Given the description of an element on the screen output the (x, y) to click on. 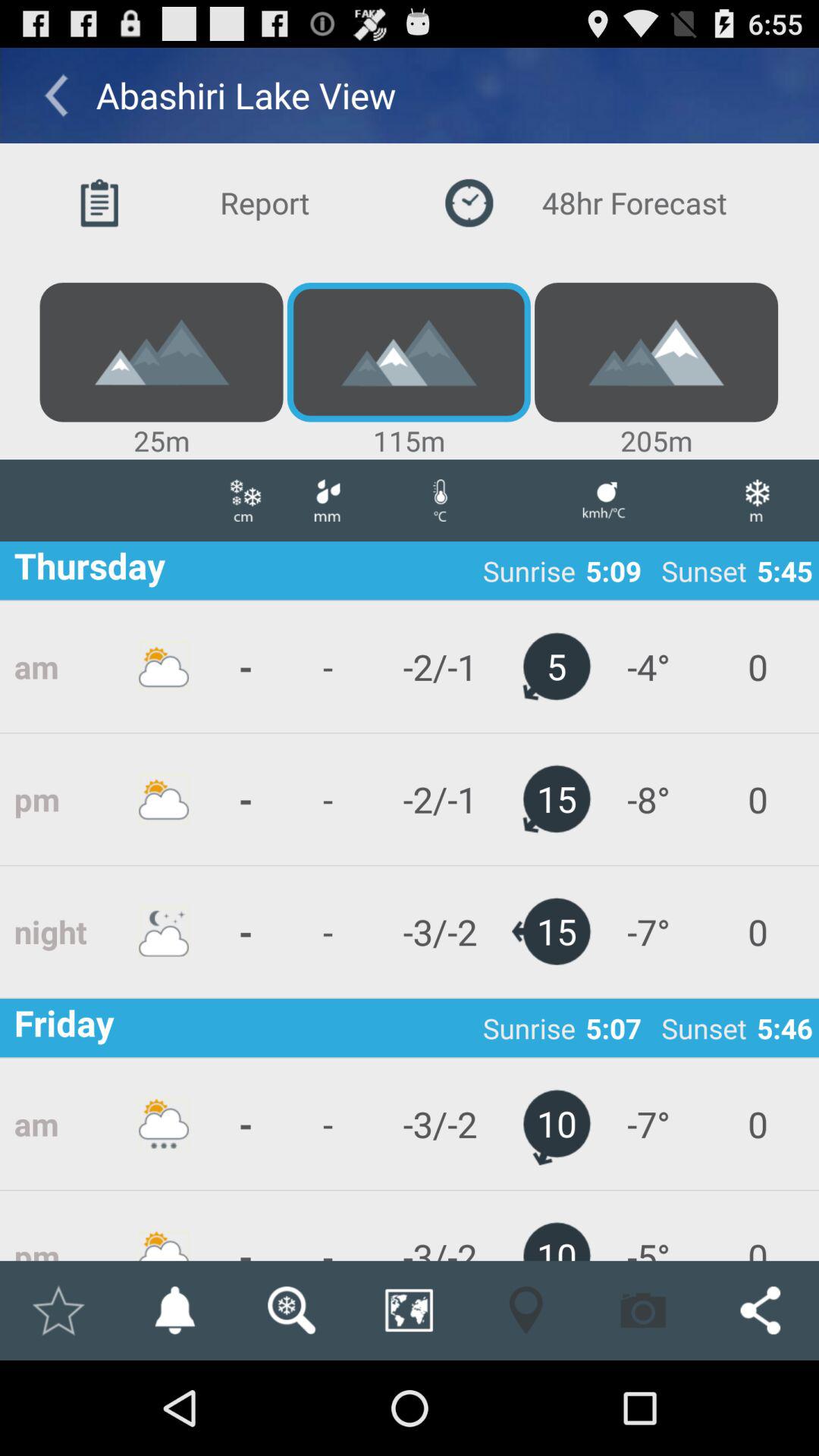
tap the item below the pm item (58, 1310)
